Given the description of an element on the screen output the (x, y) to click on. 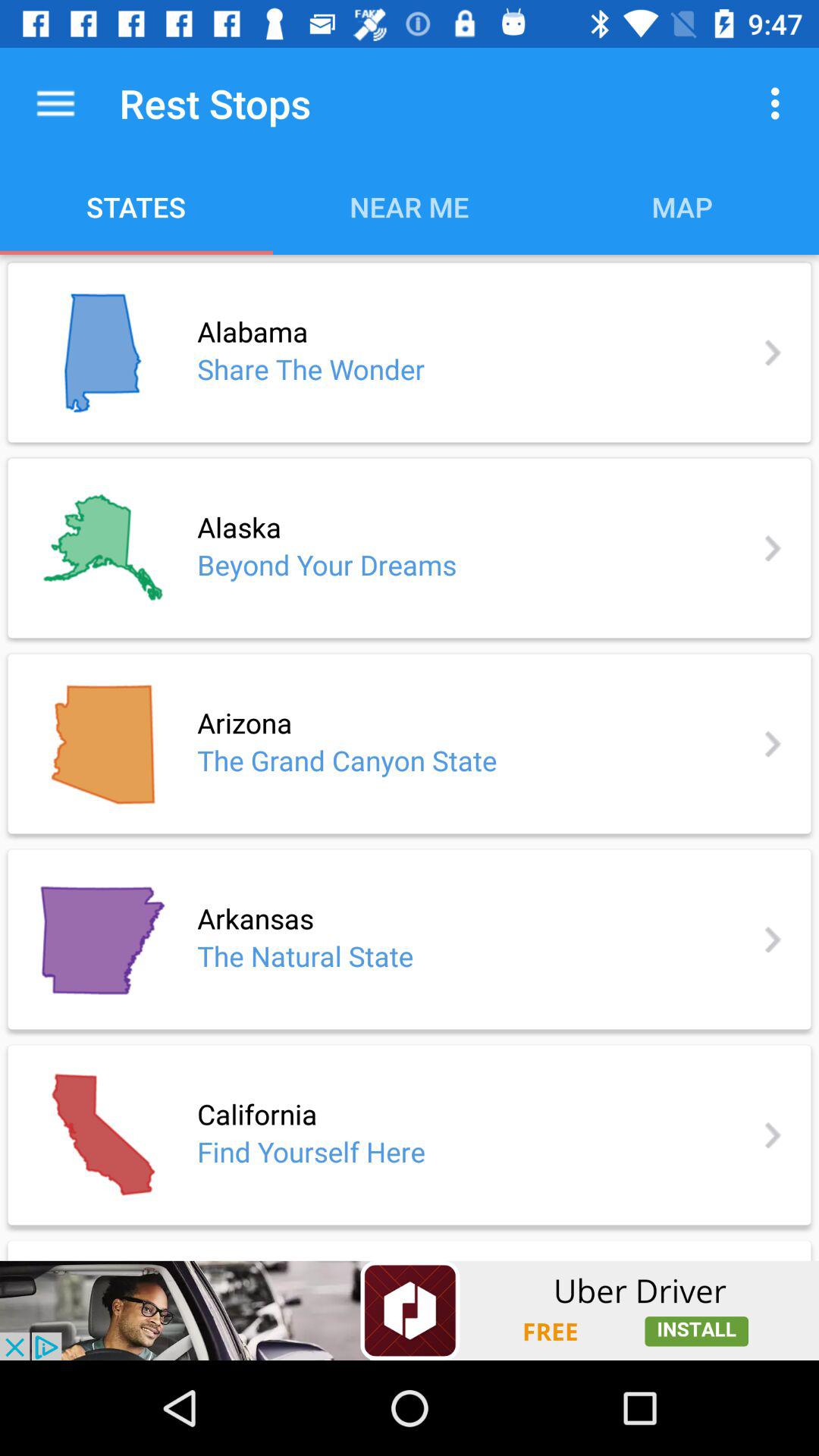
advertisement (409, 1310)
